Given the description of an element on the screen output the (x, y) to click on. 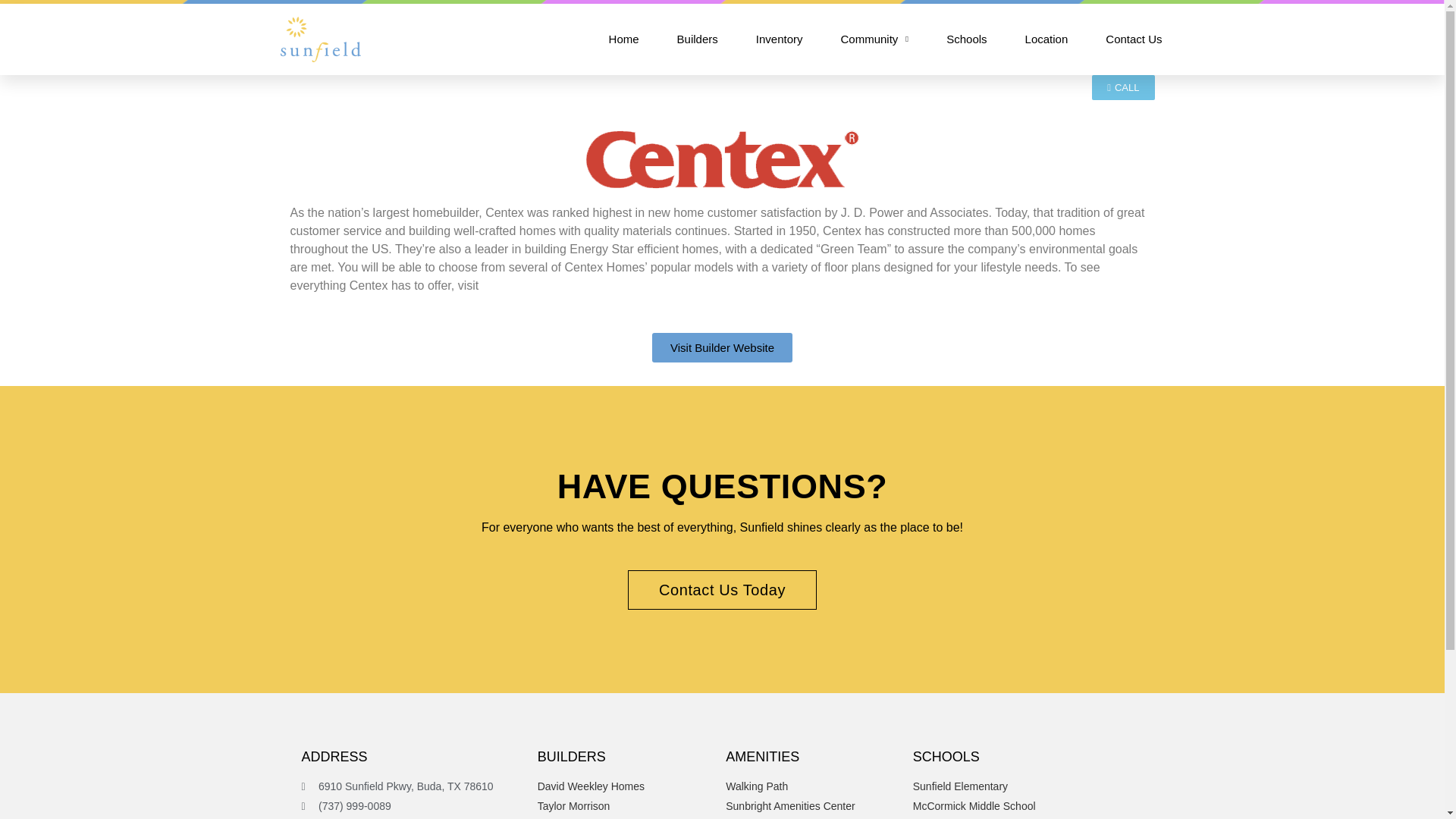
David Weekley Homes (628, 786)
Sunfield Elementary (1027, 786)
6910 Sunfield Pkwy, Buda, TX 78610 (415, 786)
Taylor Morrison (628, 806)
Contact Us Today (721, 589)
Community (874, 38)
Visit Builder Website (722, 347)
Sunbright Amenities Center (815, 806)
CALL (1123, 87)
